Given the description of an element on the screen output the (x, y) to click on. 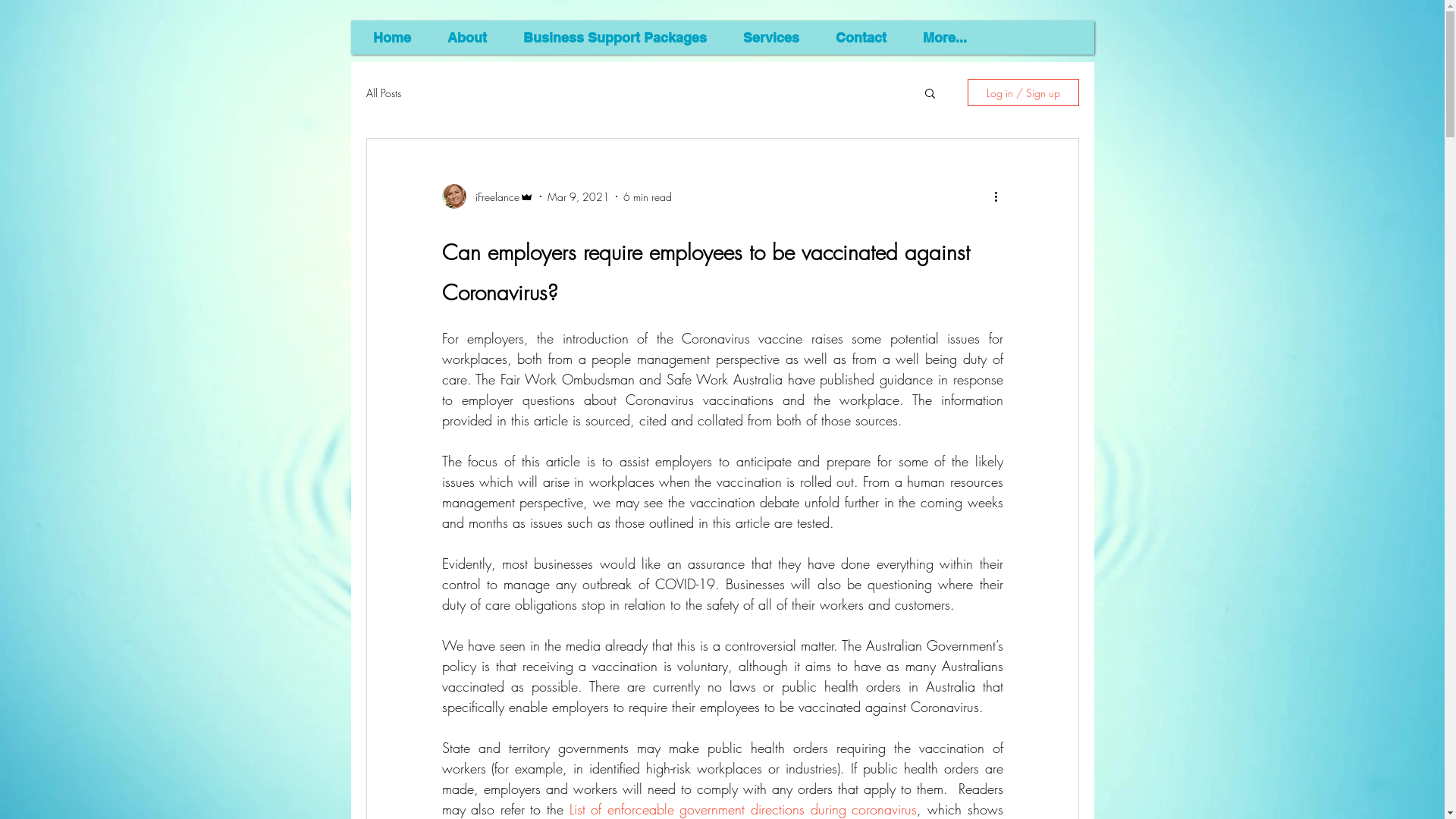
List of enforceable government directions during coronavirus Element type: text (743, 809)
Log in / Sign up Element type: text (1023, 92)
All Posts Element type: text (382, 91)
Services Element type: text (770, 37)
Contact Element type: text (860, 37)
Business Support Packages Element type: text (614, 37)
Home Element type: text (390, 37)
About Element type: text (466, 37)
